Given the description of an element on the screen output the (x, y) to click on. 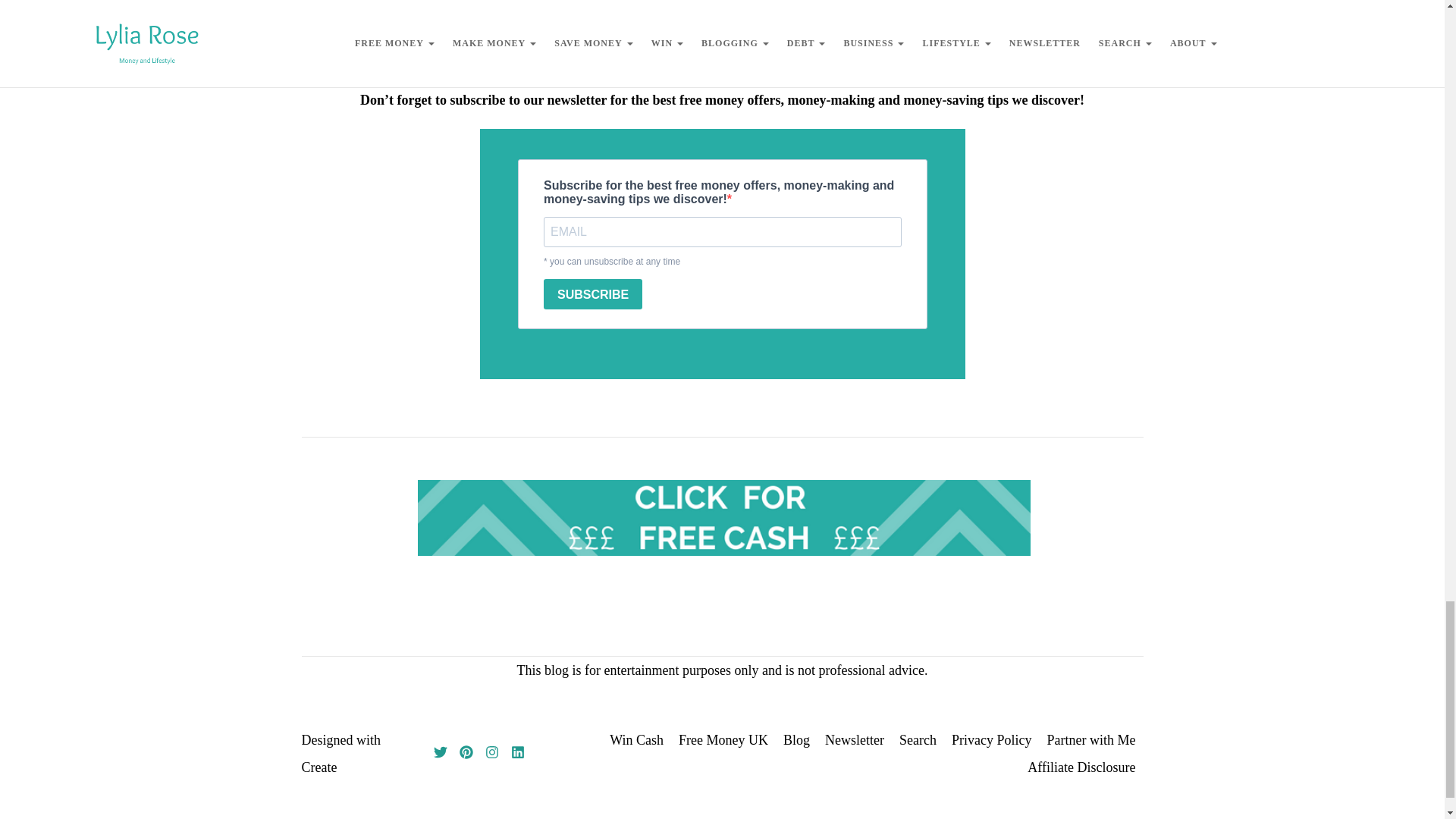
pinterest (466, 753)
twitter (439, 753)
instagram (491, 753)
free cash offers (723, 517)
